Given the description of an element on the screen output the (x, y) to click on. 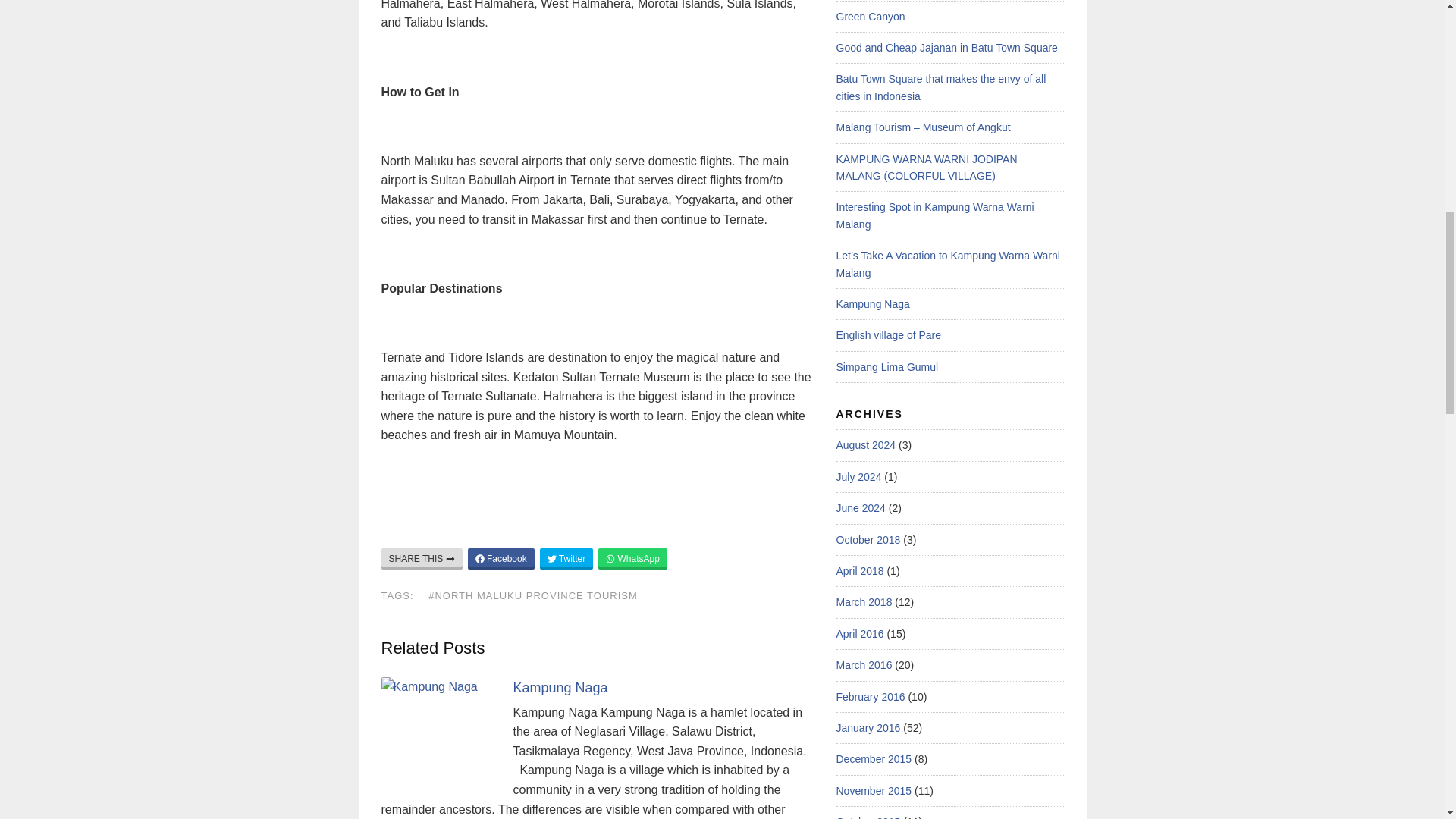
Kampung Naga (559, 687)
Twitter (566, 558)
Facebook (500, 558)
WhatsApp (632, 558)
